Given the description of an element on the screen output the (x, y) to click on. 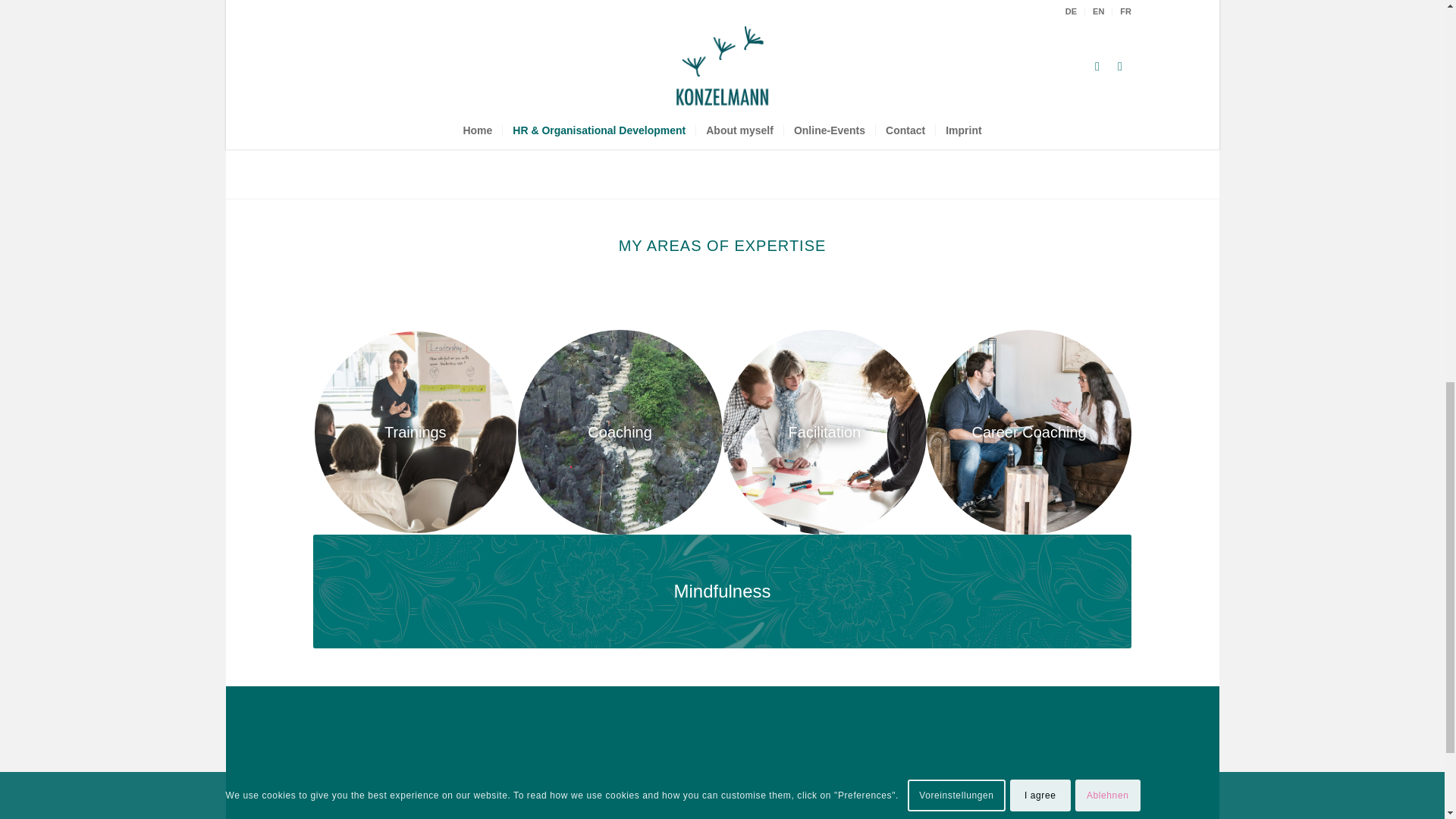
Coaching (620, 432)
Facilitation (824, 432)
Trainings (415, 432)
